Given the description of an element on the screen output the (x, y) to click on. 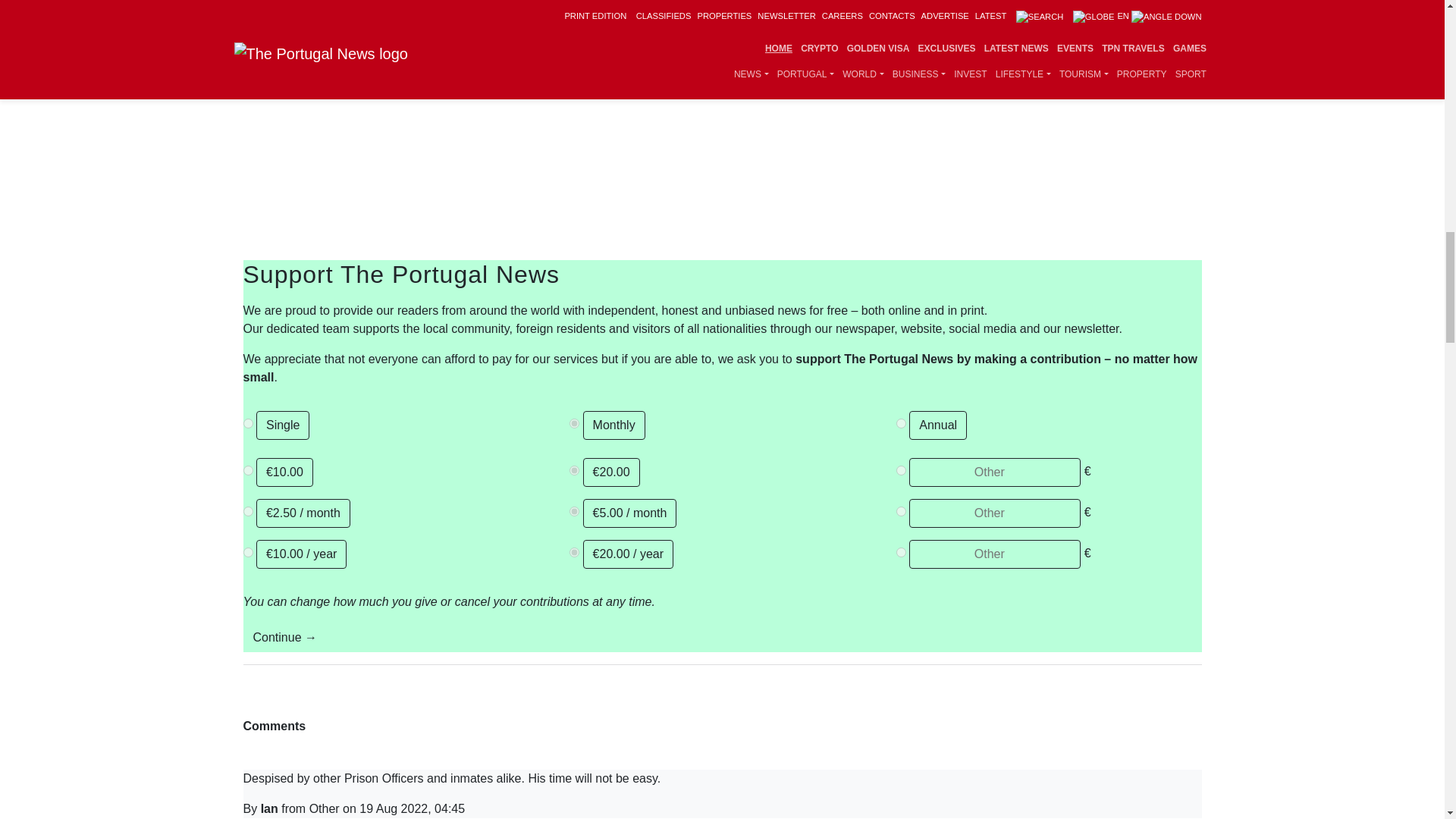
20 (574, 470)
single (247, 423)
5 (574, 511)
P-6T2758016F920900CMGGQYMQ (574, 423)
20 (574, 552)
10 (247, 470)
P-18662245734186221MGVD6SI (900, 423)
2.5 (247, 511)
10 (247, 552)
